Given the description of an element on the screen output the (x, y) to click on. 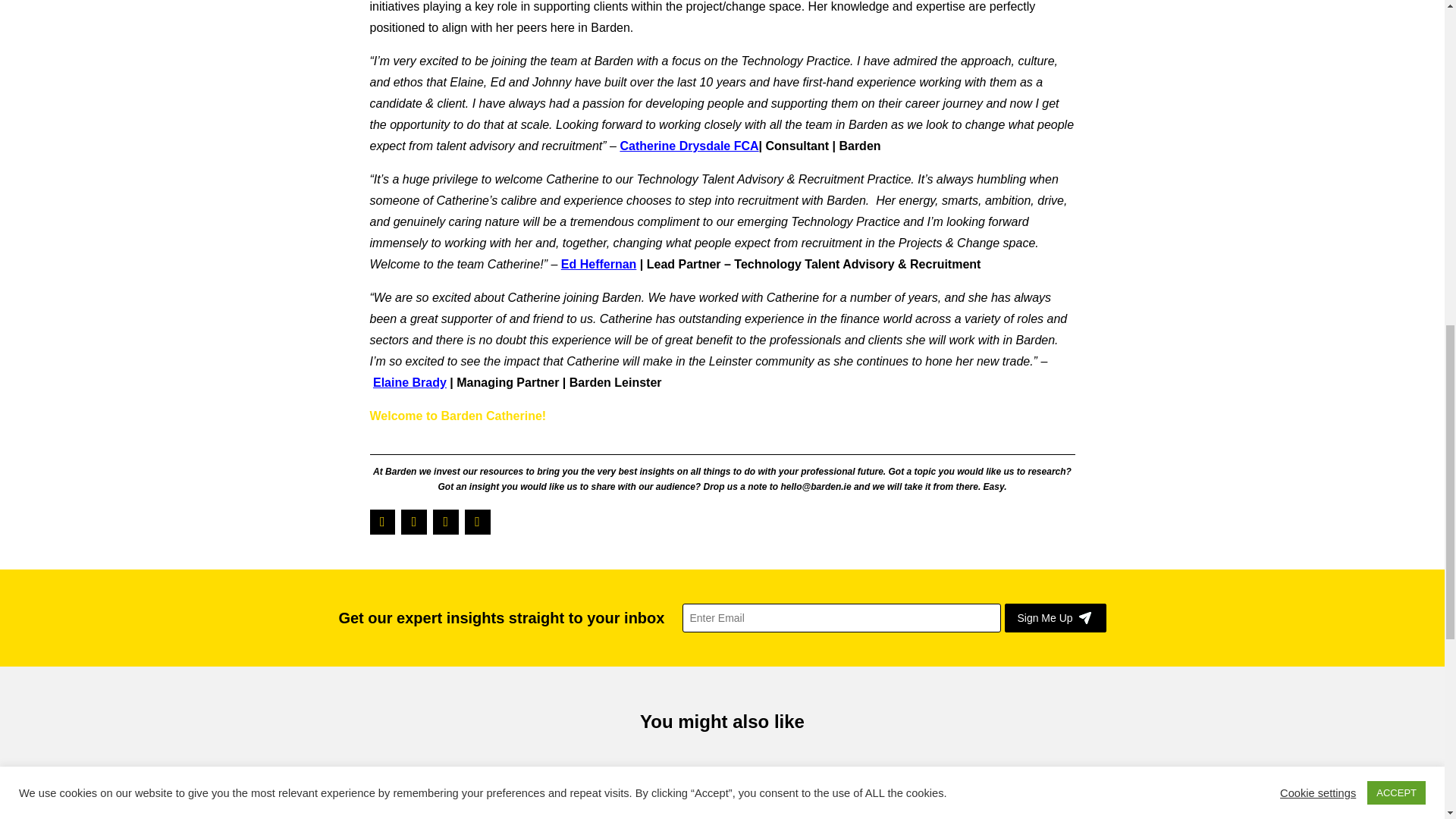
Catherine Drysdale FCA (689, 145)
Elaine Brady (409, 382)
Ed Heffernan (598, 264)
Sign Me Up (1054, 617)
